Given the description of an element on the screen output the (x, y) to click on. 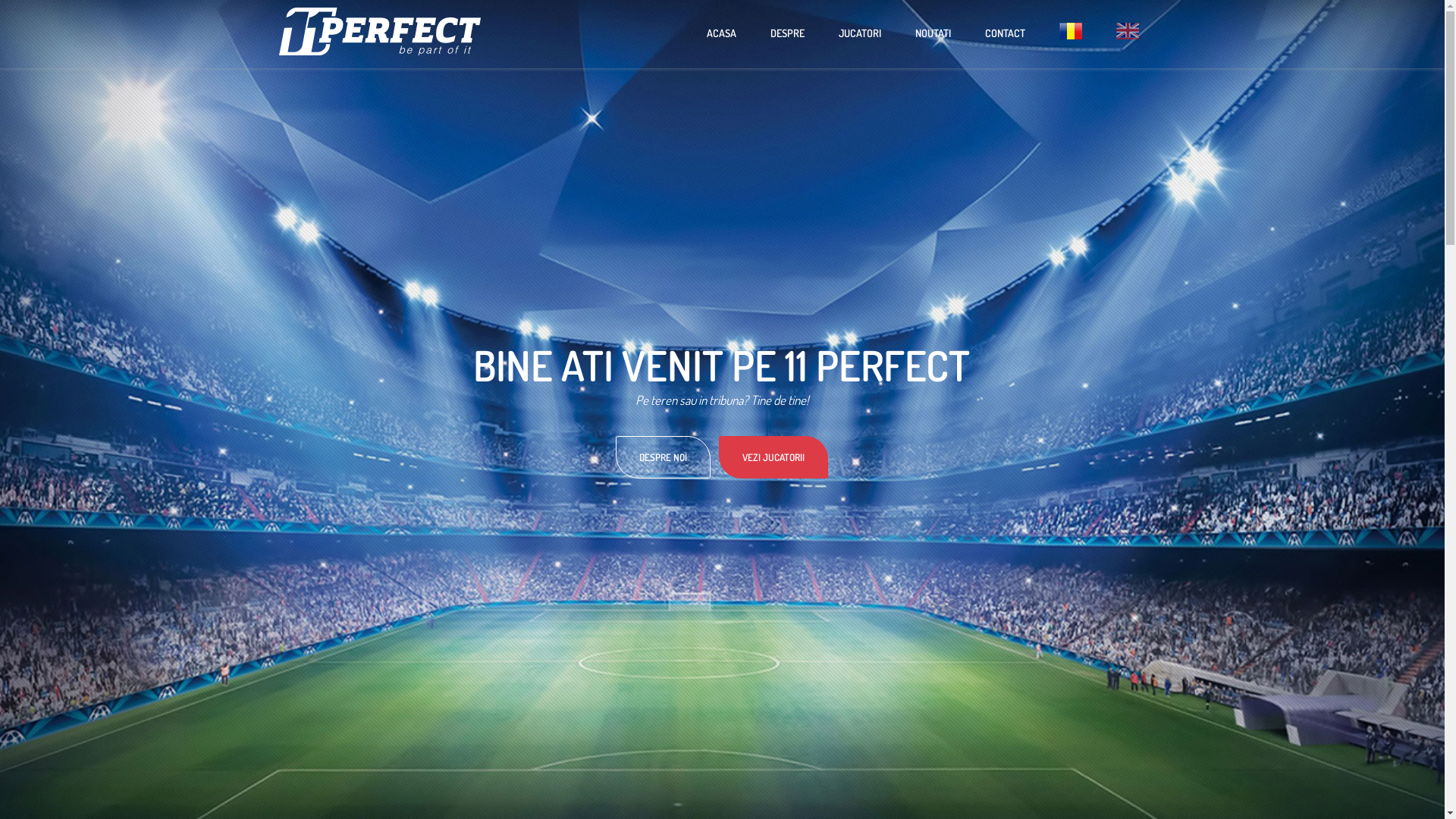
CONTACT Element type: text (1005, 33)
Romana Element type: hover (1070, 33)
JUCATORI Element type: text (859, 33)
ACASA Element type: text (720, 33)
English Element type: hover (1126, 33)
DESPRE NOI Element type: text (662, 457)
VEZI JUCATORII Element type: text (773, 457)
NOUTATI Element type: text (932, 33)
DESPRE Element type: text (786, 33)
